Given the description of an element on the screen output the (x, y) to click on. 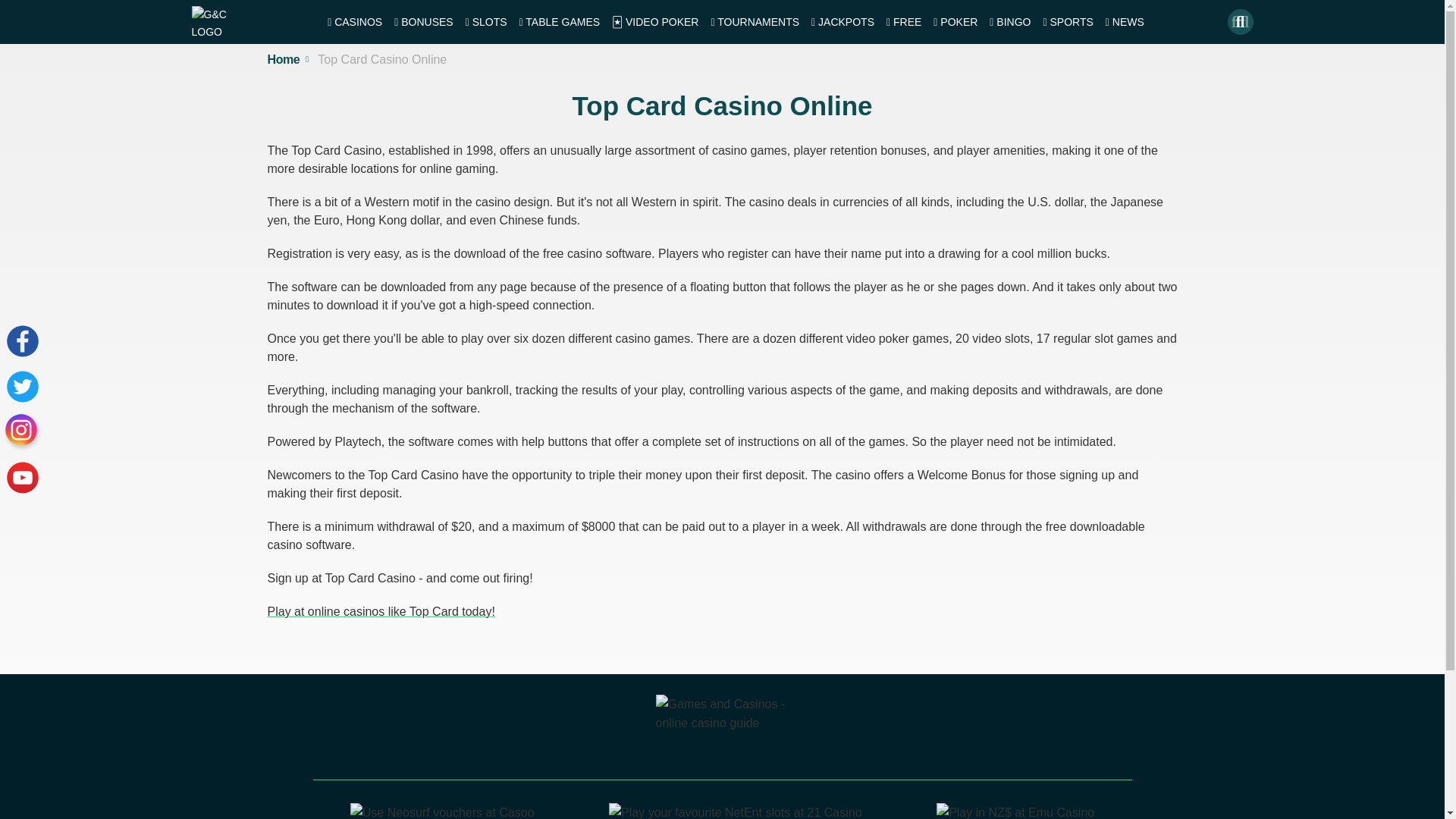
Casoo Casino (442, 812)
EmuCasino (1015, 812)
Games and Casinos - online casino guide (722, 732)
21 Casino (734, 812)
